Given the description of an element on the screen output the (x, y) to click on. 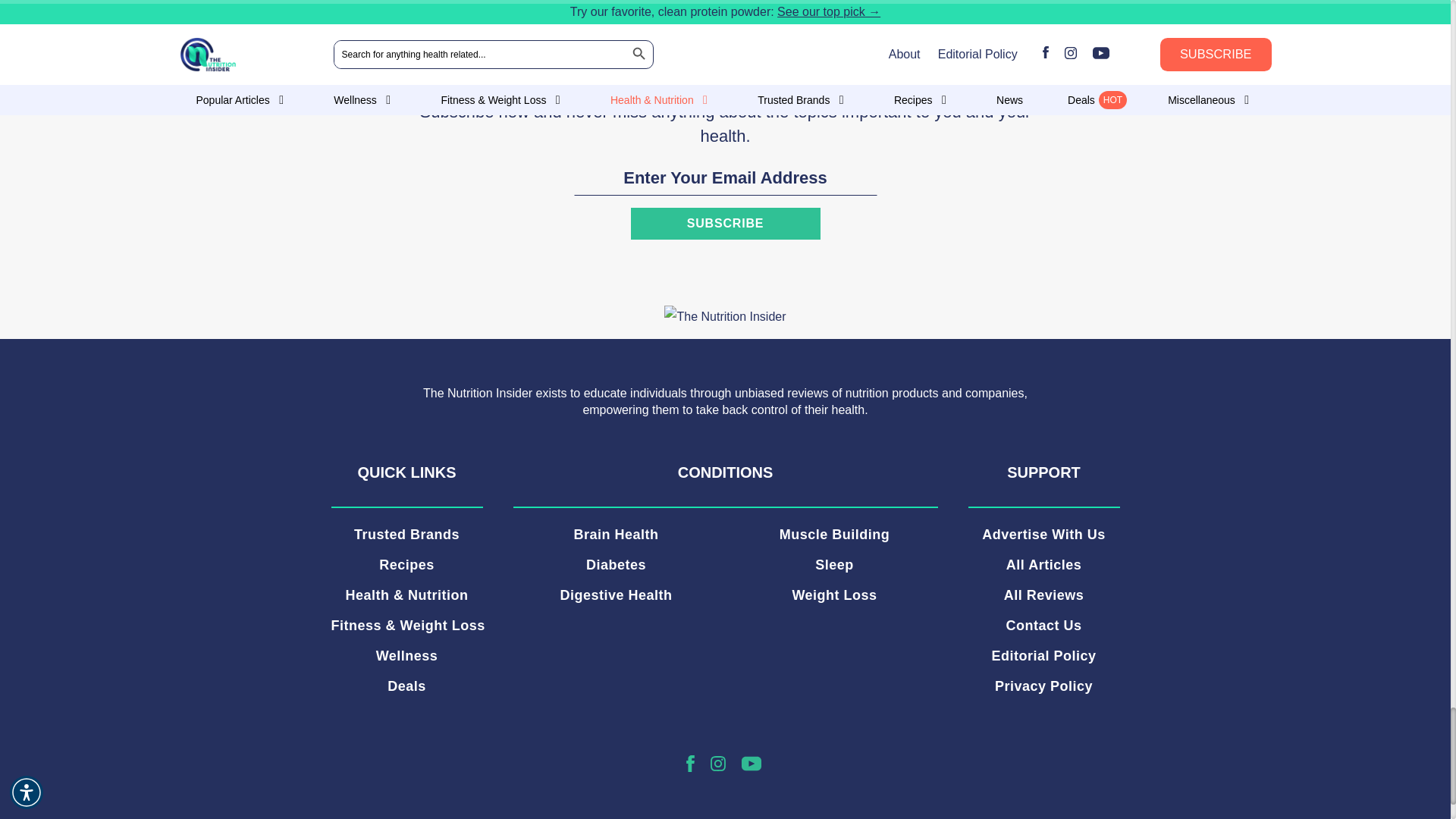
Subscribe (725, 223)
